Given the description of an element on the screen output the (x, y) to click on. 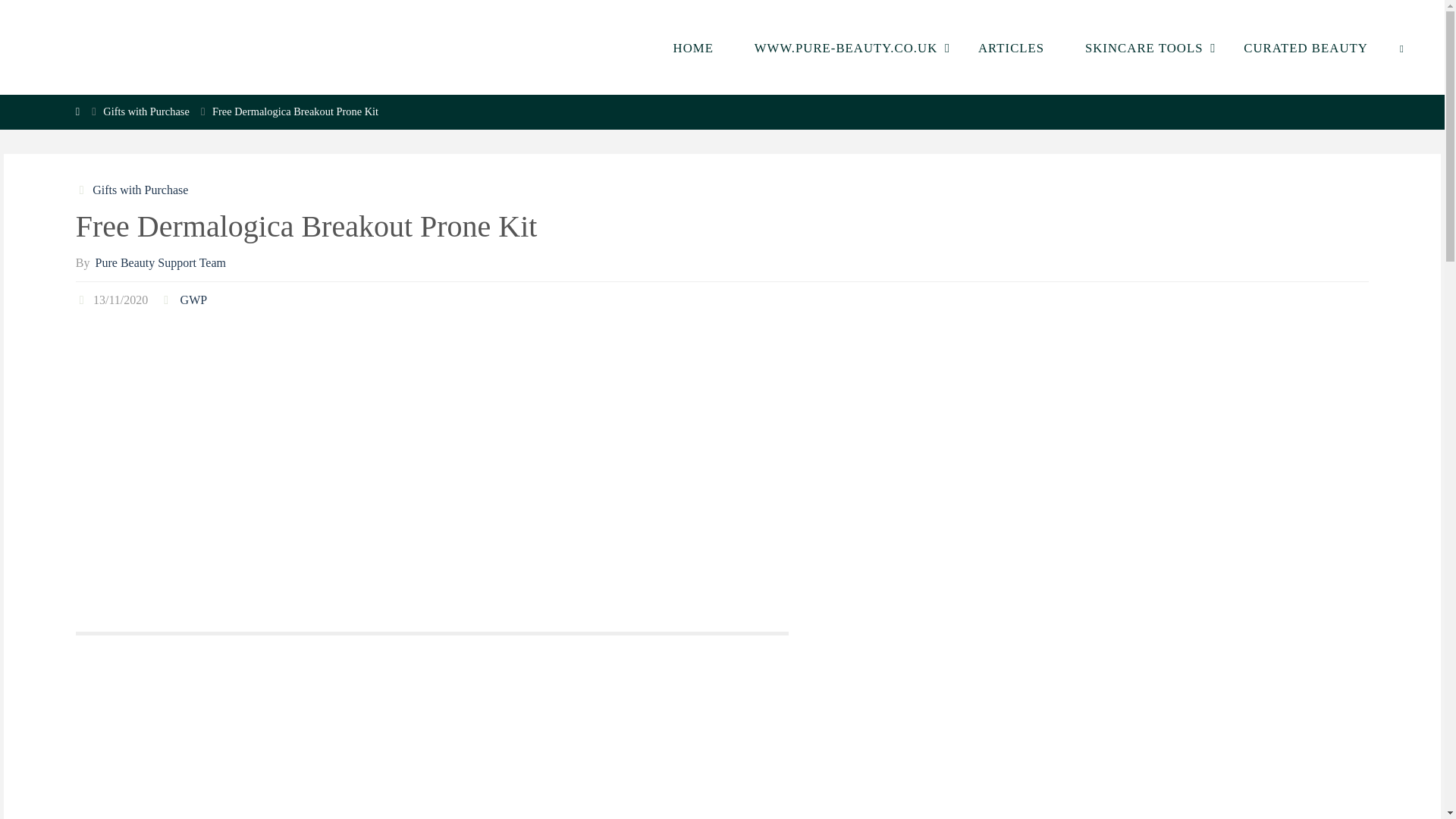
Date (82, 299)
WWW.PURE-BEAUTY.CO.UK (845, 47)
CURATED BEAUTY (1305, 47)
SKINCARE TOOLS (1143, 47)
GWP (191, 299)
Gifts with Purchase (138, 189)
Categories (82, 189)
Gifts with Purchase (146, 111)
View all posts by Pure Beauty Support Team (159, 262)
Tagged (167, 299)
